Given the description of an element on the screen output the (x, y) to click on. 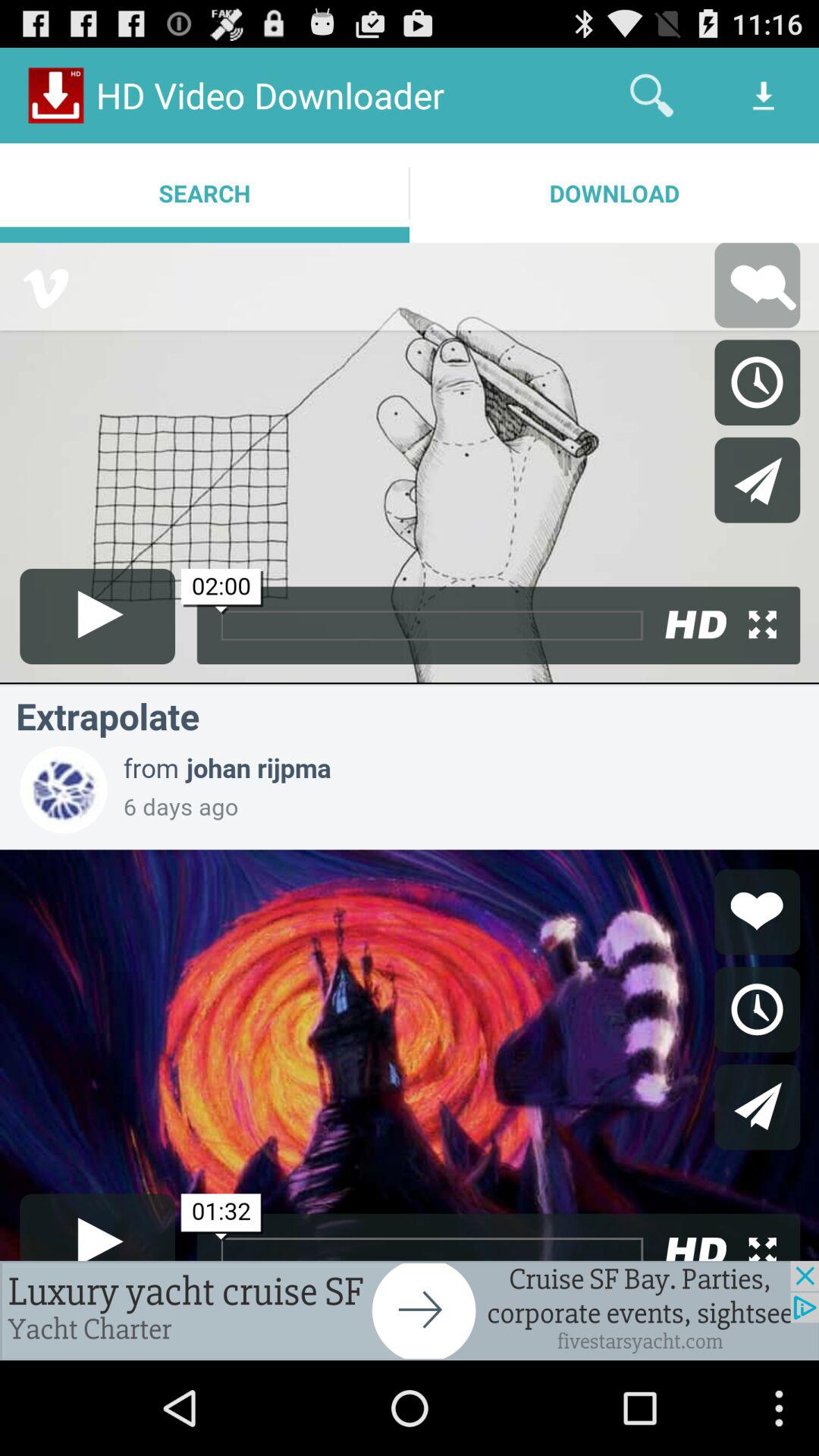
tap the icon at the bottom (409, 1310)
